Given the description of an element on the screen output the (x, y) to click on. 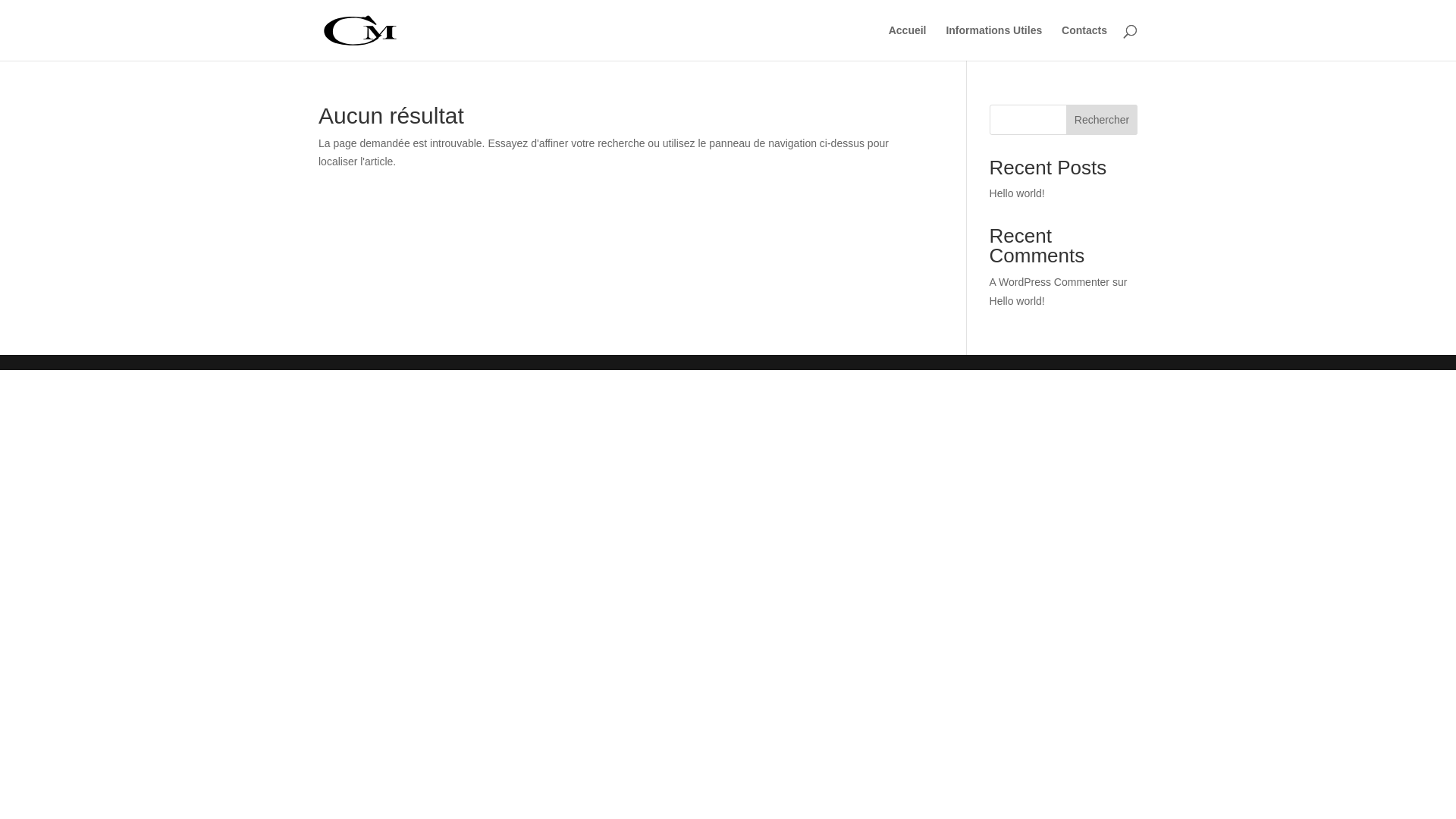
Rechercher Element type: text (1101, 119)
Informations Utiles Element type: text (993, 42)
Accueil Element type: text (907, 42)
Hello world! Element type: text (1016, 193)
Contacts Element type: text (1084, 42)
Hello world! Element type: text (1016, 300)
A WordPress Commenter Element type: text (1049, 282)
